Given the description of an element on the screen output the (x, y) to click on. 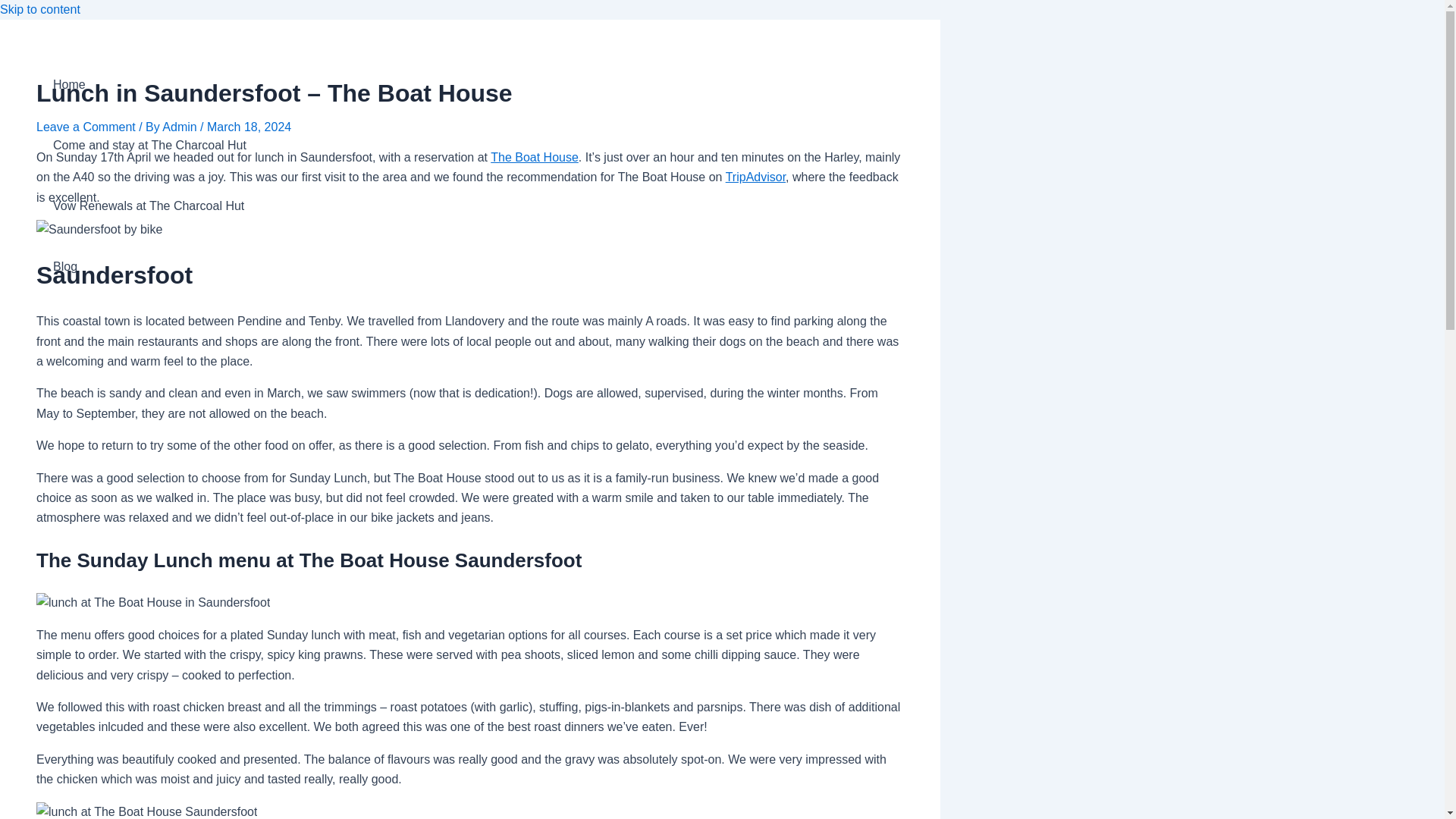
TripAdvisor (755, 176)
The Boat House (534, 156)
Admin (180, 126)
Vow Renewals at The Charcoal Hut (149, 206)
Come and stay at The Charcoal Hut (149, 145)
Blog (149, 266)
Leave a Comment (85, 126)
View all posts by Admin (180, 126)
Skip to content (40, 9)
Skip to content (40, 9)
Home (149, 84)
